Given the description of an element on the screen output the (x, y) to click on. 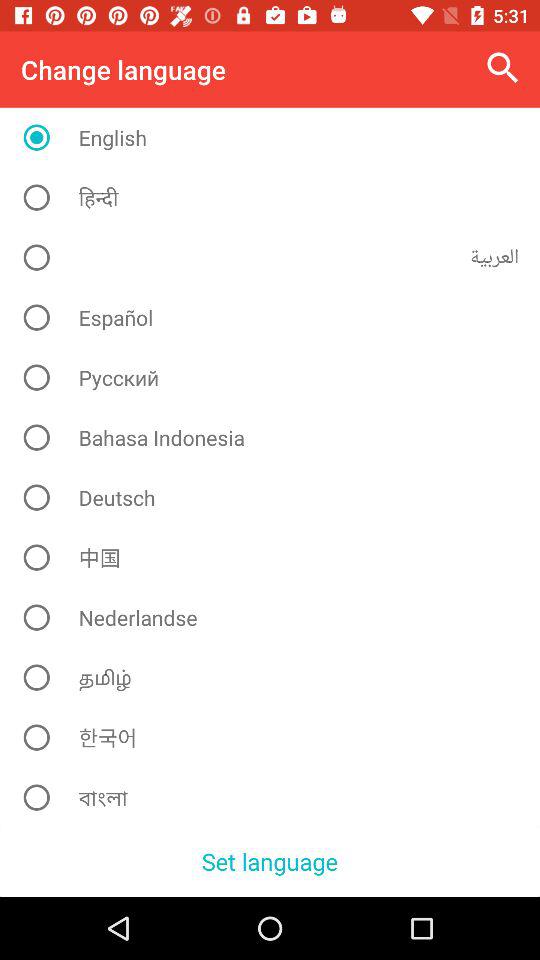
click the item above the deutsch icon (277, 437)
